Given the description of an element on the screen output the (x, y) to click on. 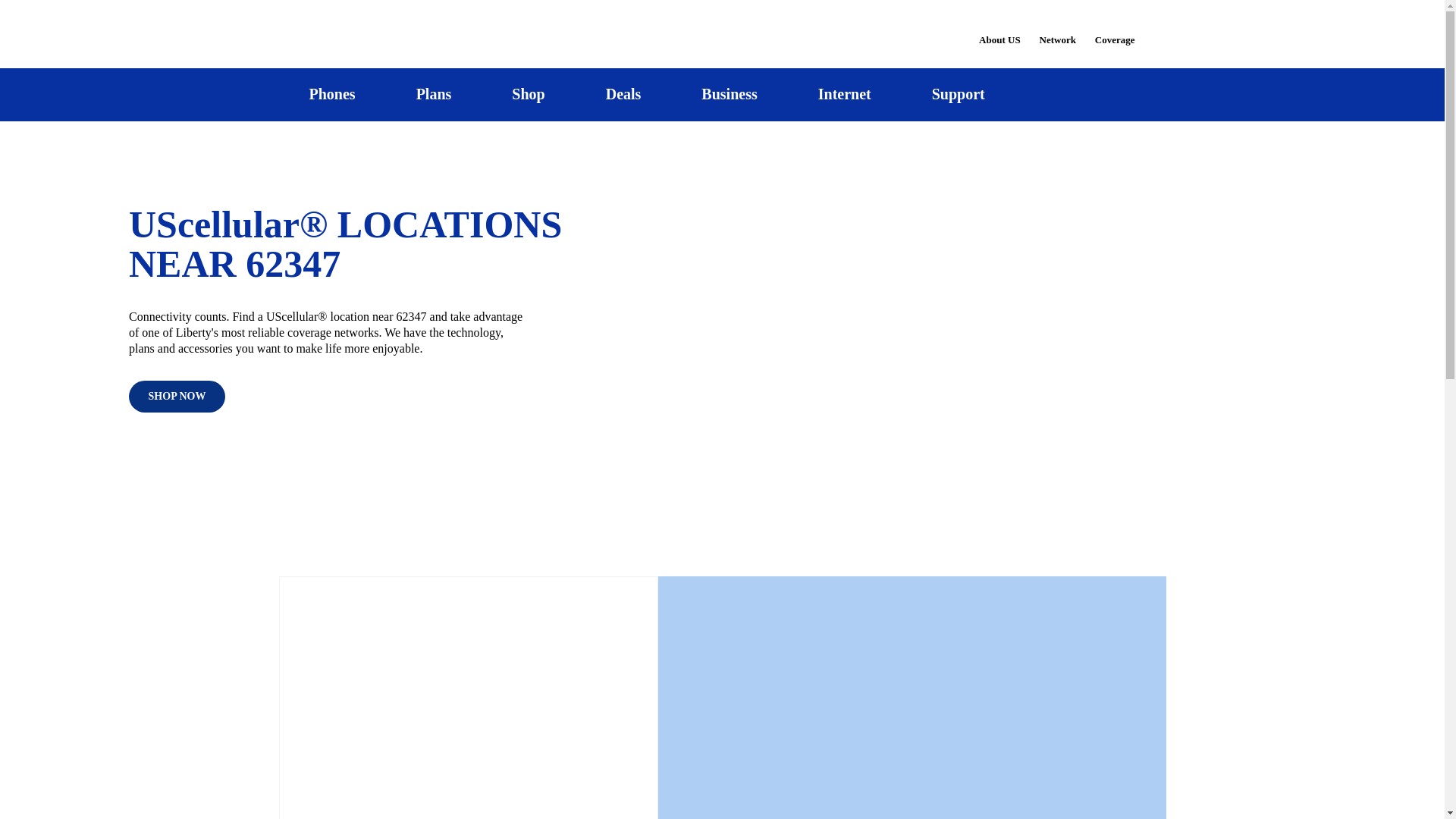
Plans (433, 94)
Support (957, 94)
Network (1057, 30)
SHOP NOW (177, 396)
About US (999, 30)
Phones (332, 94)
Deals (623, 94)
Internet (844, 94)
Business (729, 94)
Coverage (1115, 29)
